Given the description of an element on the screen output the (x, y) to click on. 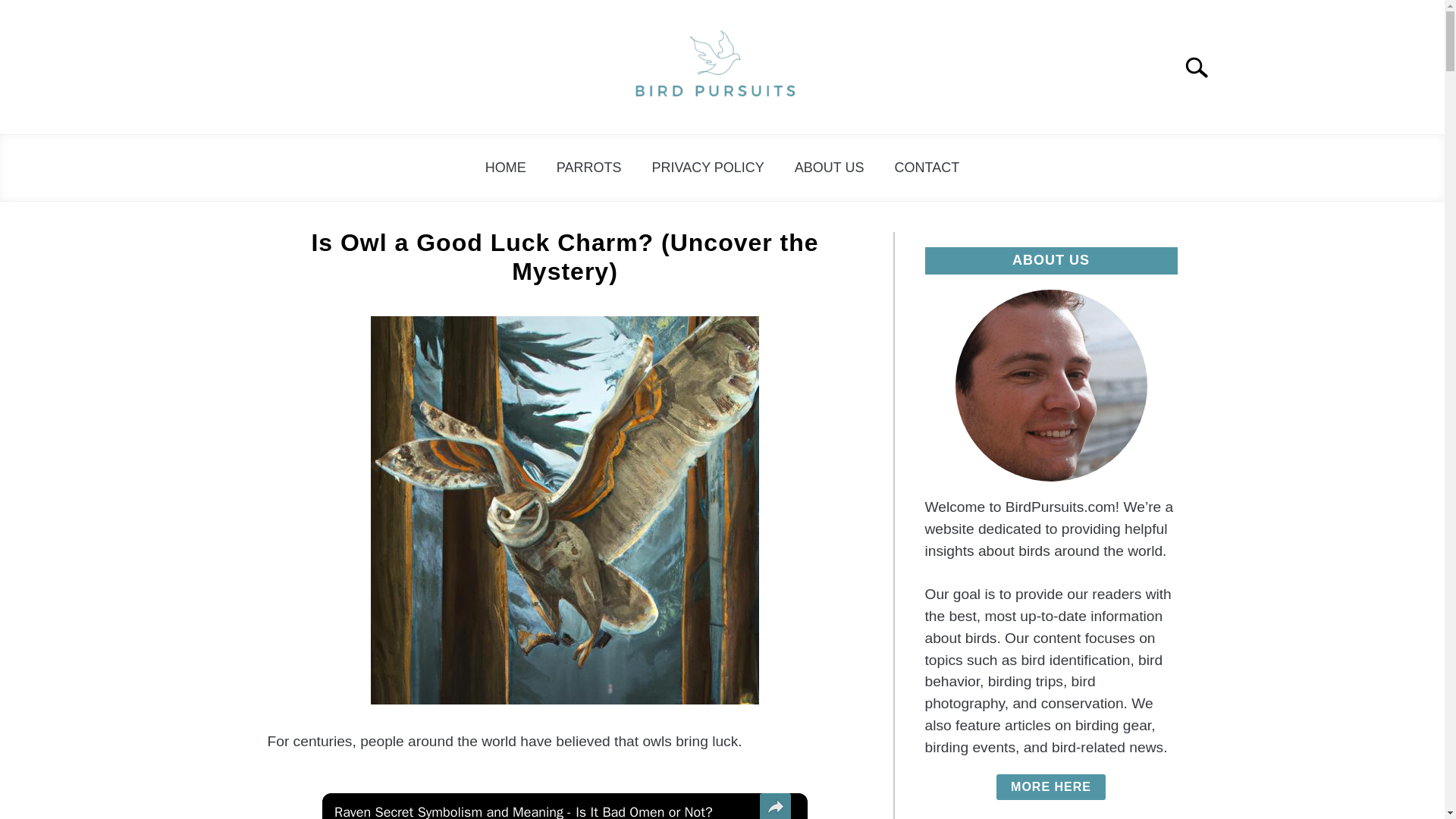
Raven Secret Symbolism and Meaning - Is It Bad Omen or Not? (543, 810)
ABOUT US (828, 167)
Search (1203, 67)
Share (775, 806)
share (775, 806)
PARROTS (589, 167)
HOME (505, 167)
MORE HERE (1050, 786)
CONTACT (927, 167)
PRIVACY POLICY (707, 167)
